Given the description of an element on the screen output the (x, y) to click on. 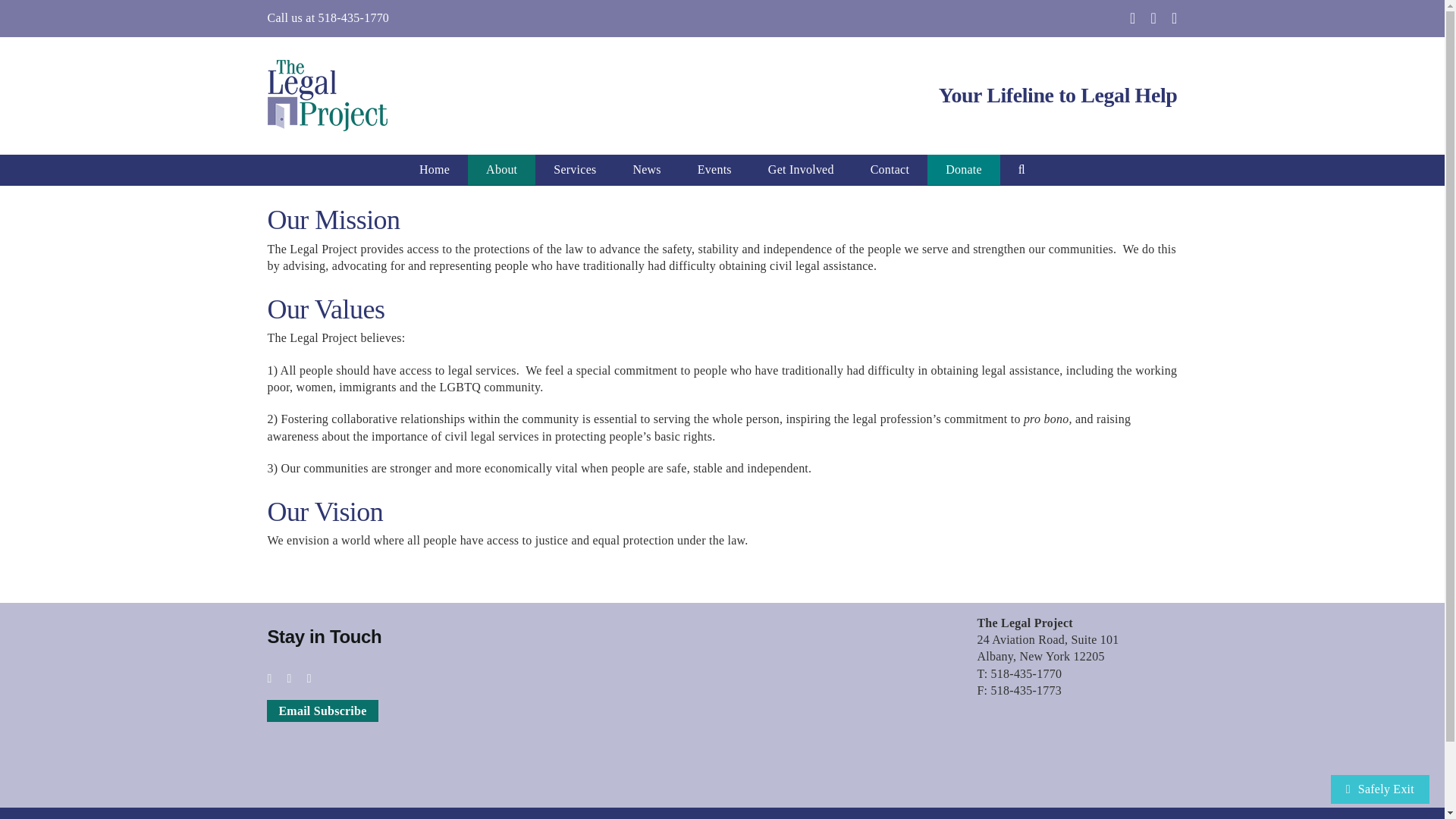
Events (714, 169)
Safely Exit (1379, 788)
Donate (963, 169)
Get Involved (800, 169)
News (646, 169)
Services (574, 169)
About (501, 169)
Search (1021, 169)
Home (434, 169)
Contact (889, 169)
